Given the description of an element on the screen output the (x, y) to click on. 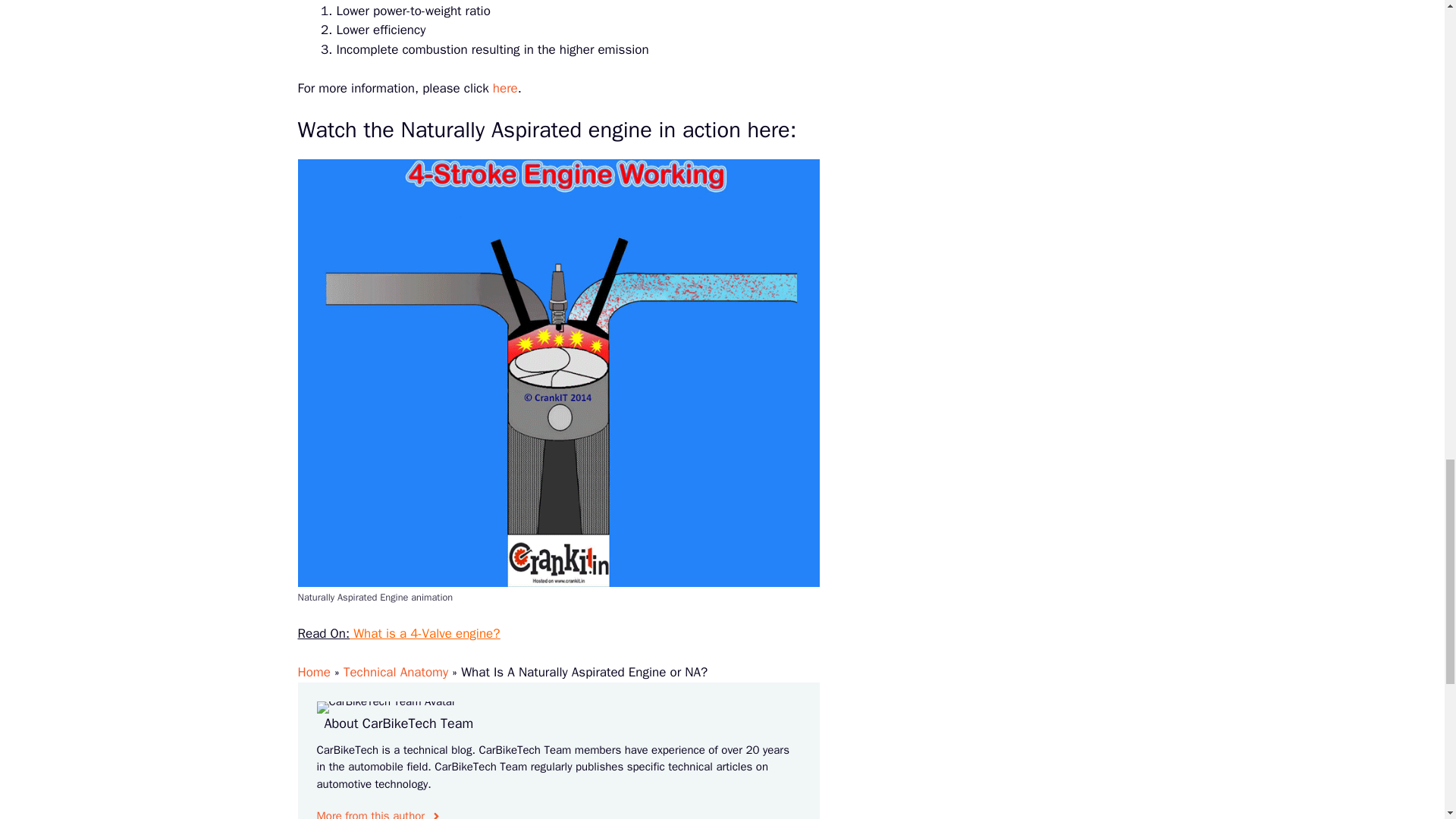
Technical Anatomy (395, 672)
More from this author (379, 813)
What is a 4-Valve engine? (424, 633)
here (505, 88)
Home (313, 672)
